Given the description of an element on the screen output the (x, y) to click on. 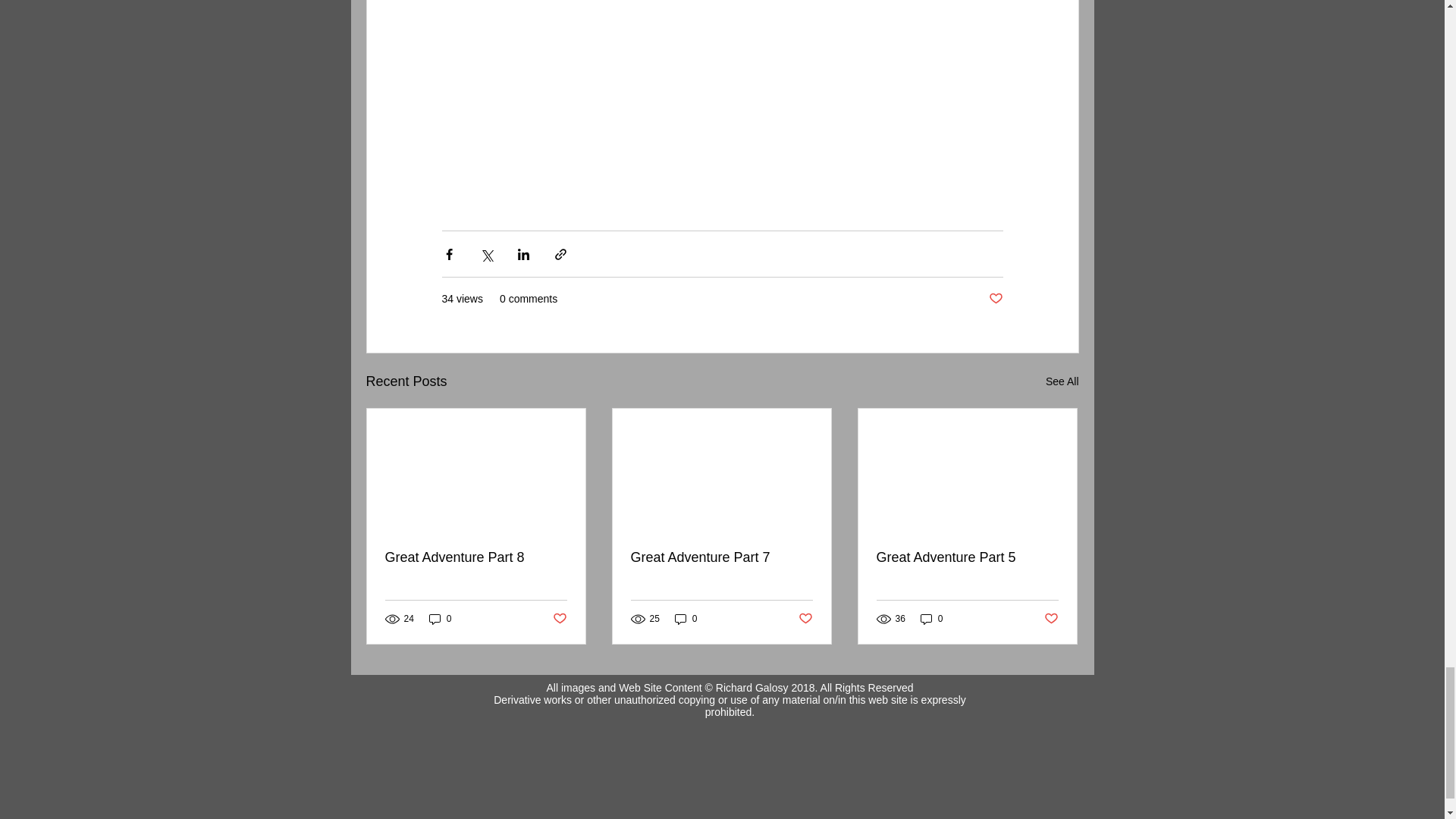
Great Adventure Part 7 (721, 557)
Post not marked as liked (804, 618)
0 (931, 617)
0 (685, 617)
Post not marked as liked (1050, 618)
Post not marked as liked (558, 618)
0 (440, 617)
Great Adventure Part 5 (967, 557)
See All (1061, 382)
Post not marked as liked (995, 299)
Great Adventure Part 8 (476, 557)
